Given the description of an element on the screen output the (x, y) to click on. 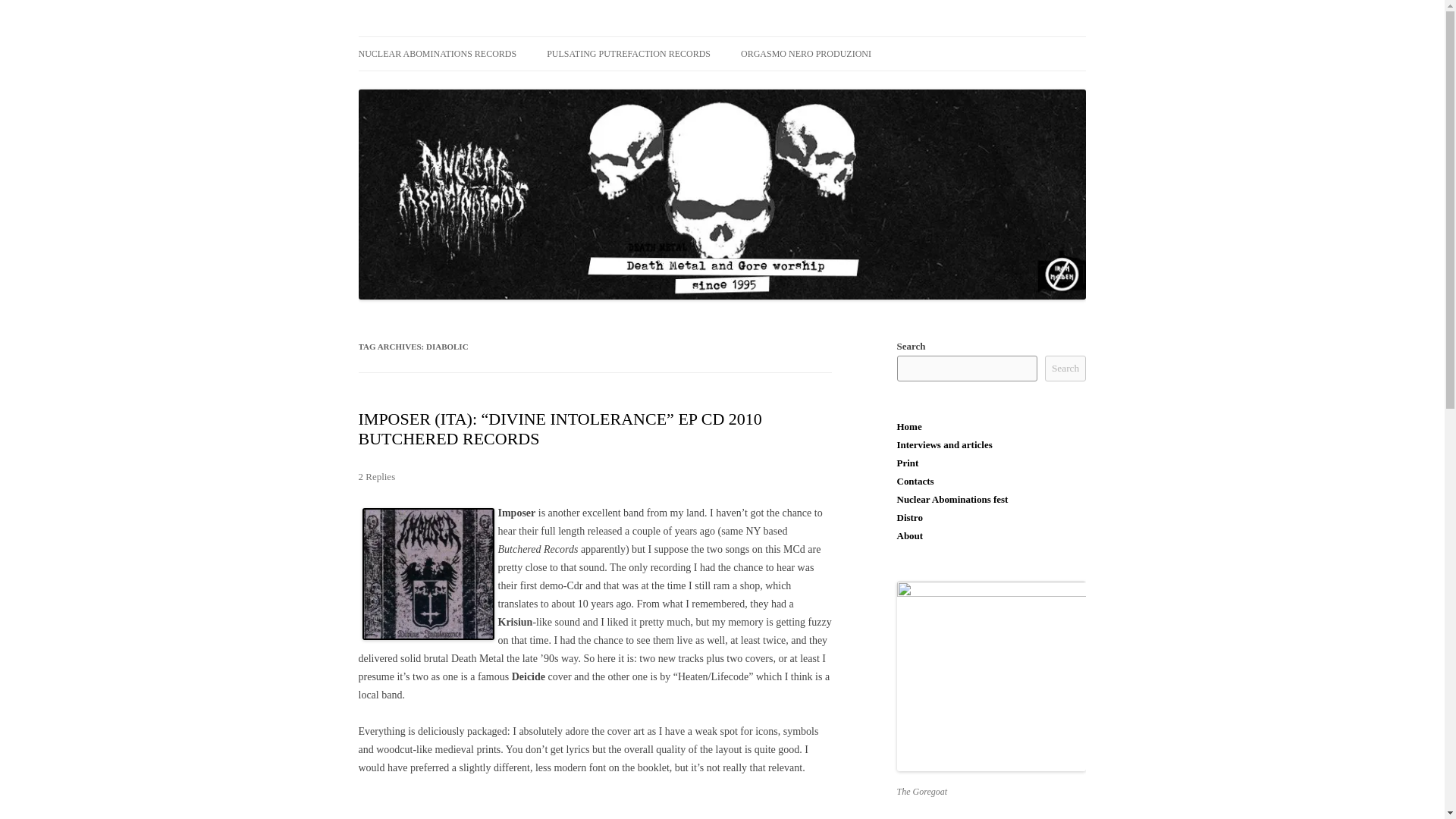
Distro (908, 517)
Print (907, 462)
2 Replies (376, 476)
ORGASMO NERO PRODUZIONI (805, 53)
NUCLEAR ABOMINATIONS RECORDS (437, 53)
About (909, 535)
PULSATING PUTREFACTION RECORDS (628, 53)
Home (908, 426)
Interviews and articles (943, 444)
